Given the description of an element on the screen output the (x, y) to click on. 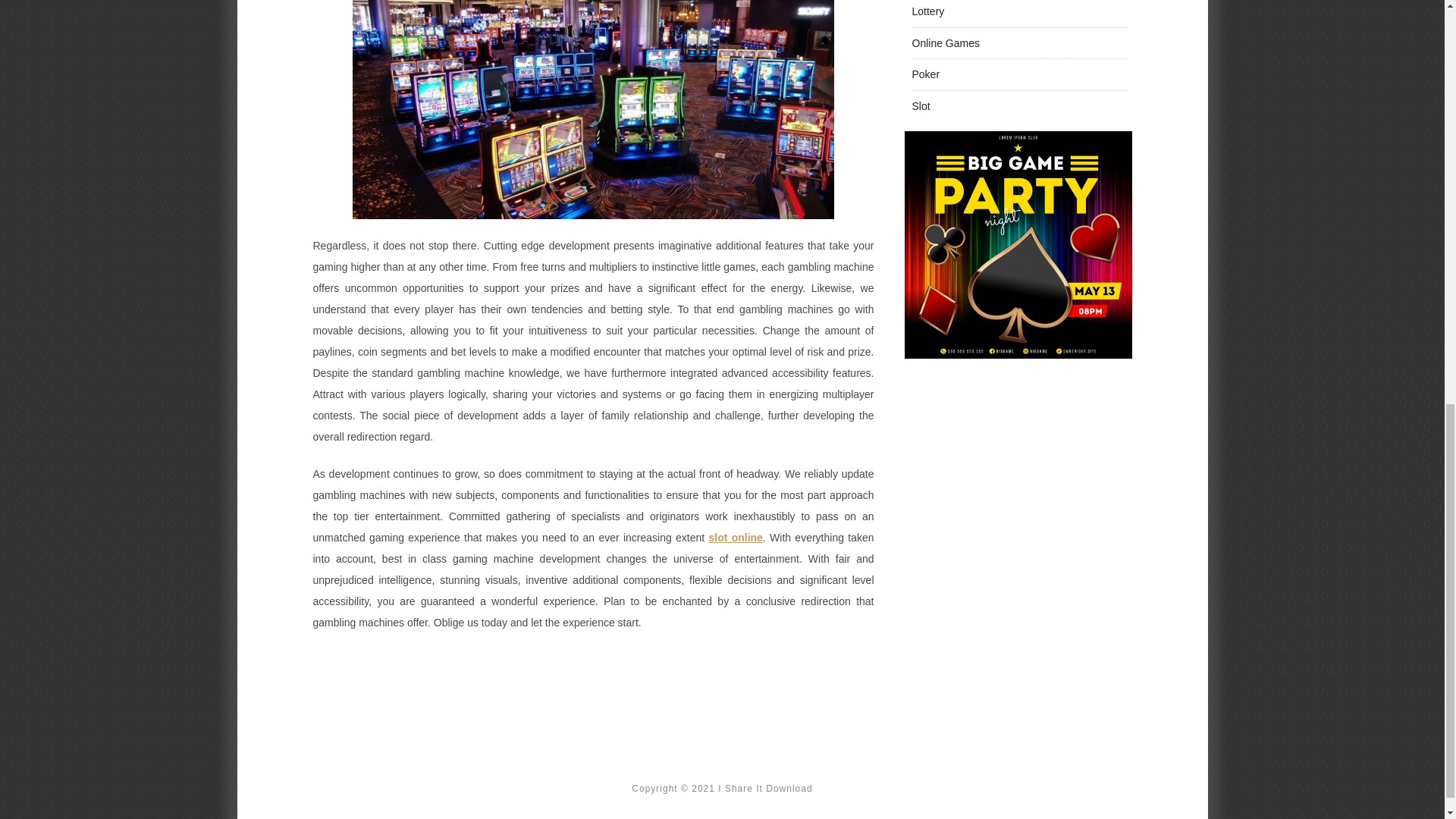
Lottery (927, 10)
Online Games (944, 42)
Slot (920, 105)
slot online (734, 537)
Poker (925, 73)
